Given the description of an element on the screen output the (x, y) to click on. 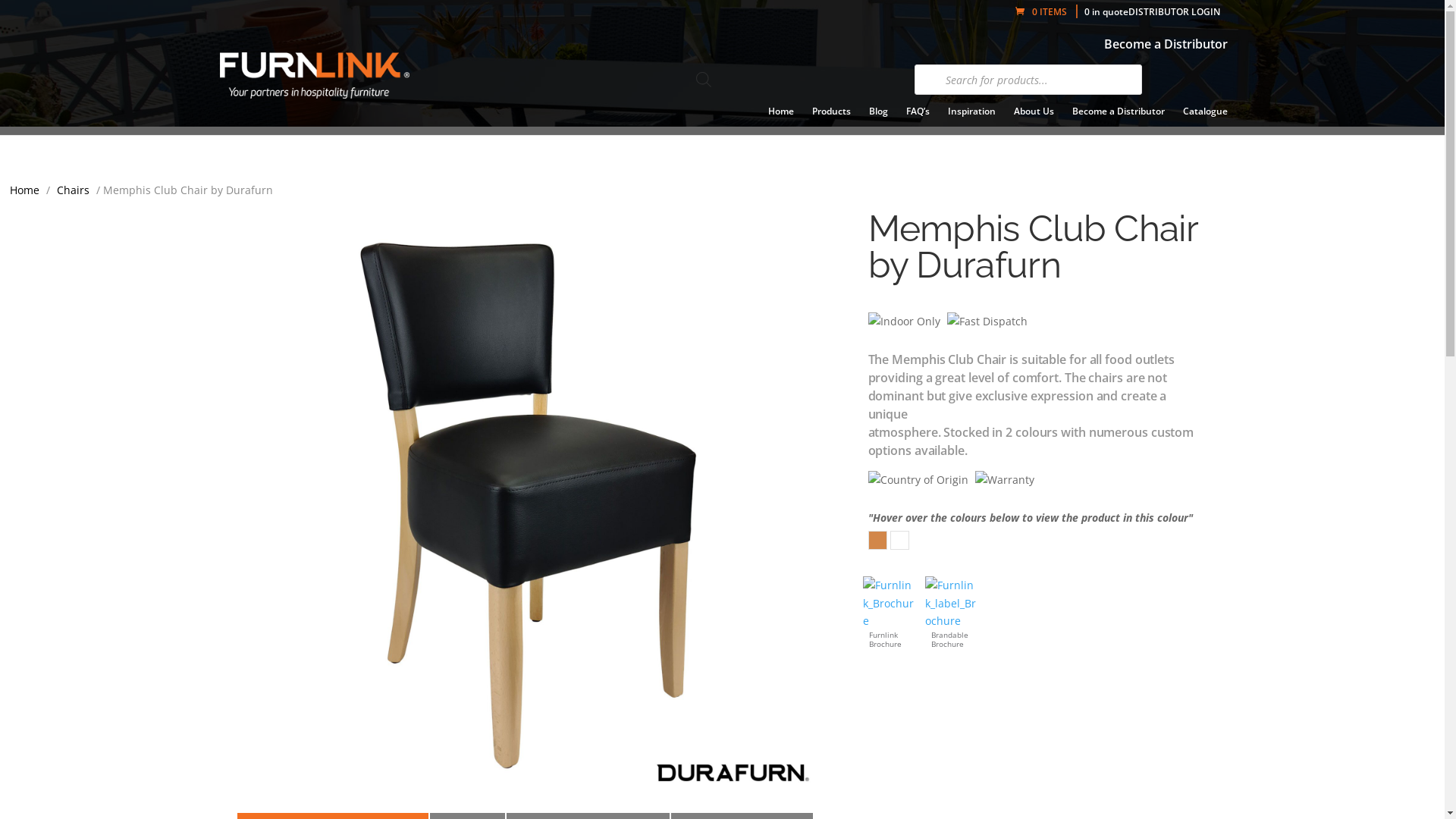
Blog Element type: text (878, 120)
Become a Distributor Element type: text (1165, 43)
Home Element type: text (780, 120)
Indoor Only Element type: hover (903, 331)
0 ITEMS Element type: text (1045, 11)
Products Element type: text (831, 120)
Become a Distributor Element type: text (1118, 120)
Inspiration Element type: text (971, 120)
Catalogue Element type: text (1205, 120)
DISTRIBUTOR LOGIN Element type: text (1174, 11)
About Us Element type: text (1033, 120)
Chairs Element type: text (73, 189)
Country of Origin Element type: hover (917, 489)
Fast Dispatch Element type: hover (986, 331)
0 in quote Element type: text (1106, 11)
Home Element type: text (24, 189)
Warranty Element type: hover (1004, 489)
